Given the description of an element on the screen output the (x, y) to click on. 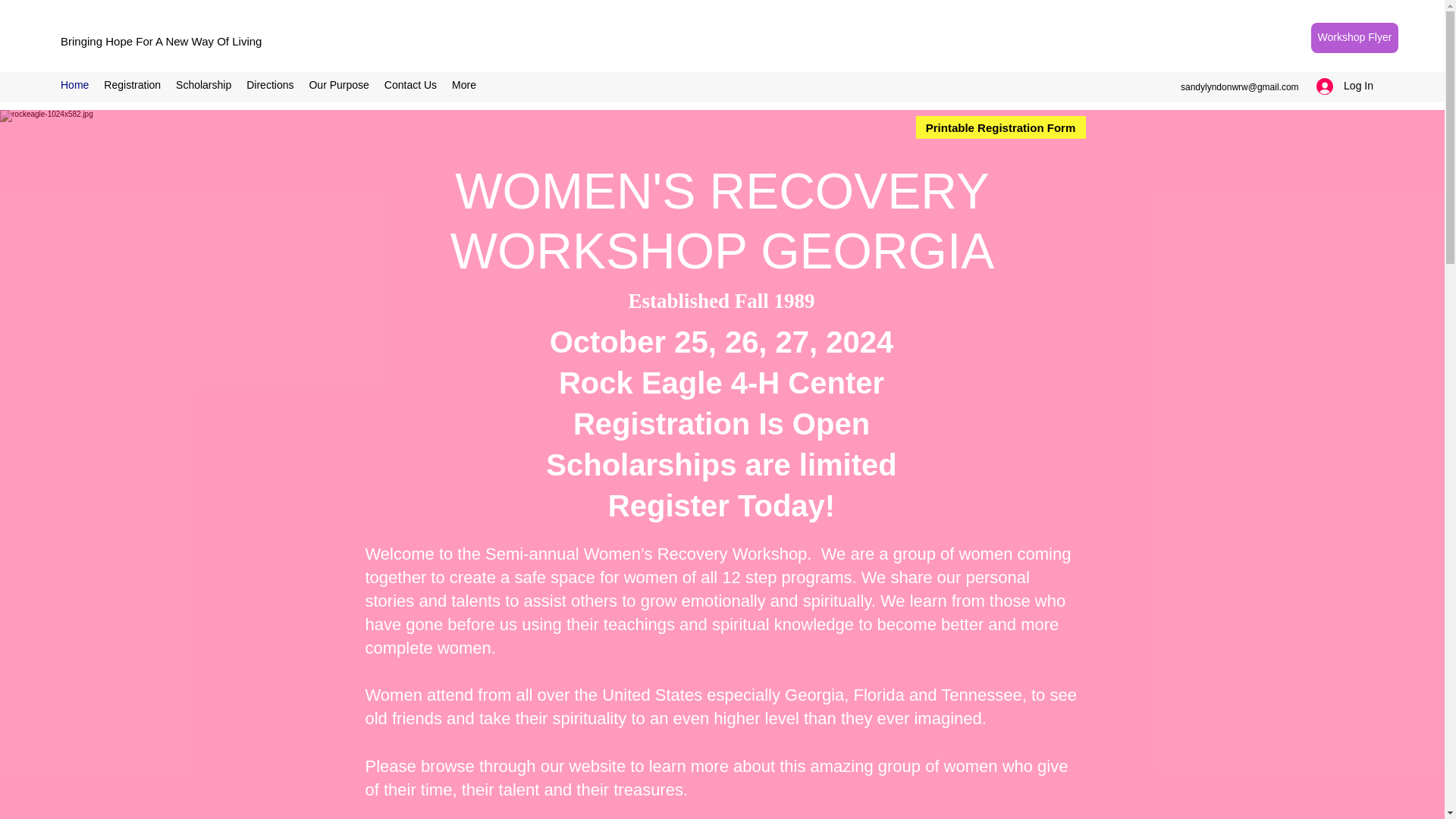
Bringing Hope For A New Way Of Living (161, 41)
Home (74, 87)
Log In (1345, 85)
Scholarship (203, 87)
Directions (269, 87)
Printable Registration Form (1000, 127)
Workshop Flyer (1354, 37)
Contact Us (410, 87)
Our Purpose (338, 87)
Registration (132, 87)
